Given the description of an element on the screen output the (x, y) to click on. 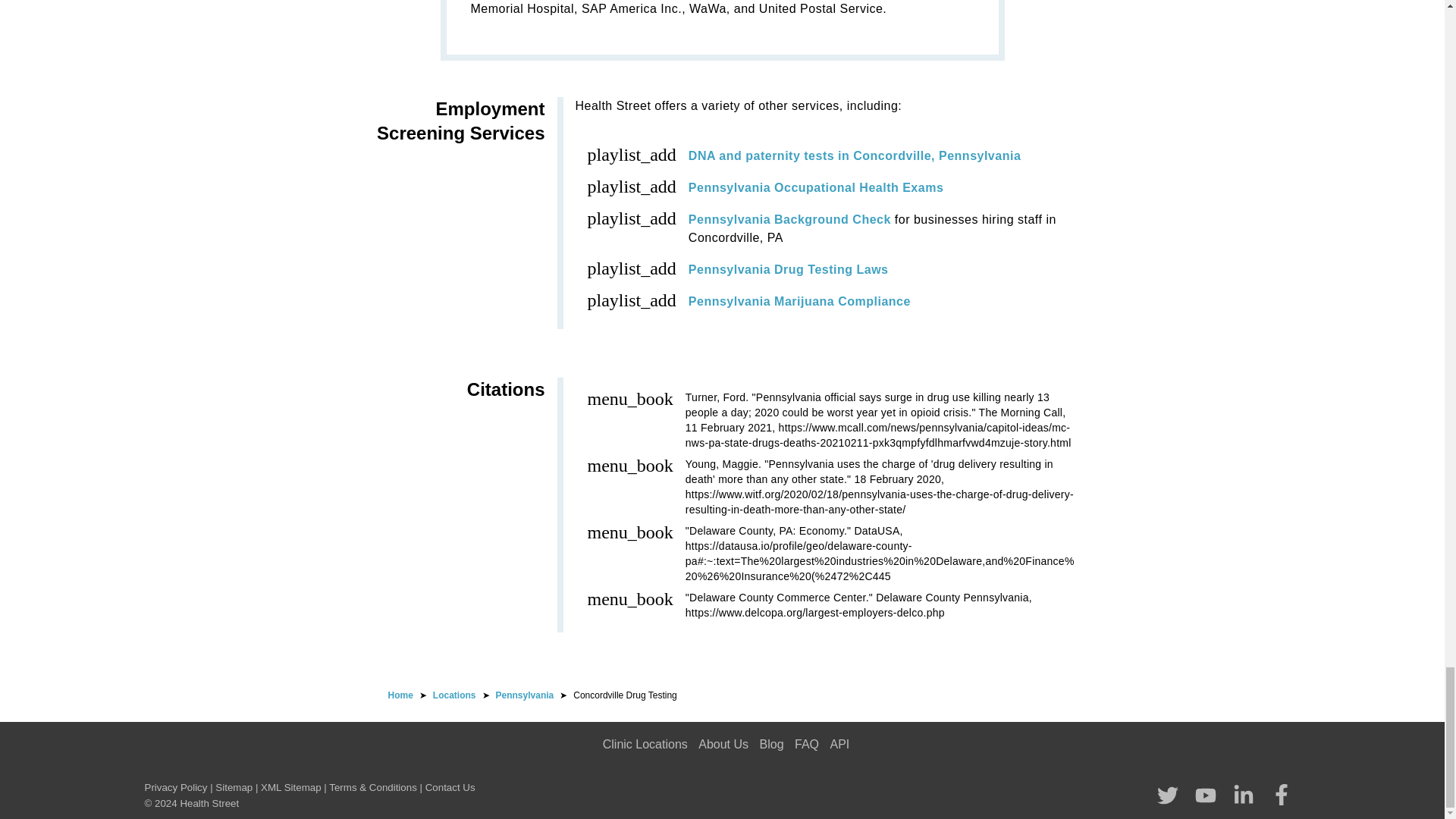
Concordville, Pennsylvania DNA and paternity tests (854, 155)
State of Pennsylvania Background Checks (789, 219)
Pennsylvania Occupational Health Exams  (815, 187)
